Given the description of an element on the screen output the (x, y) to click on. 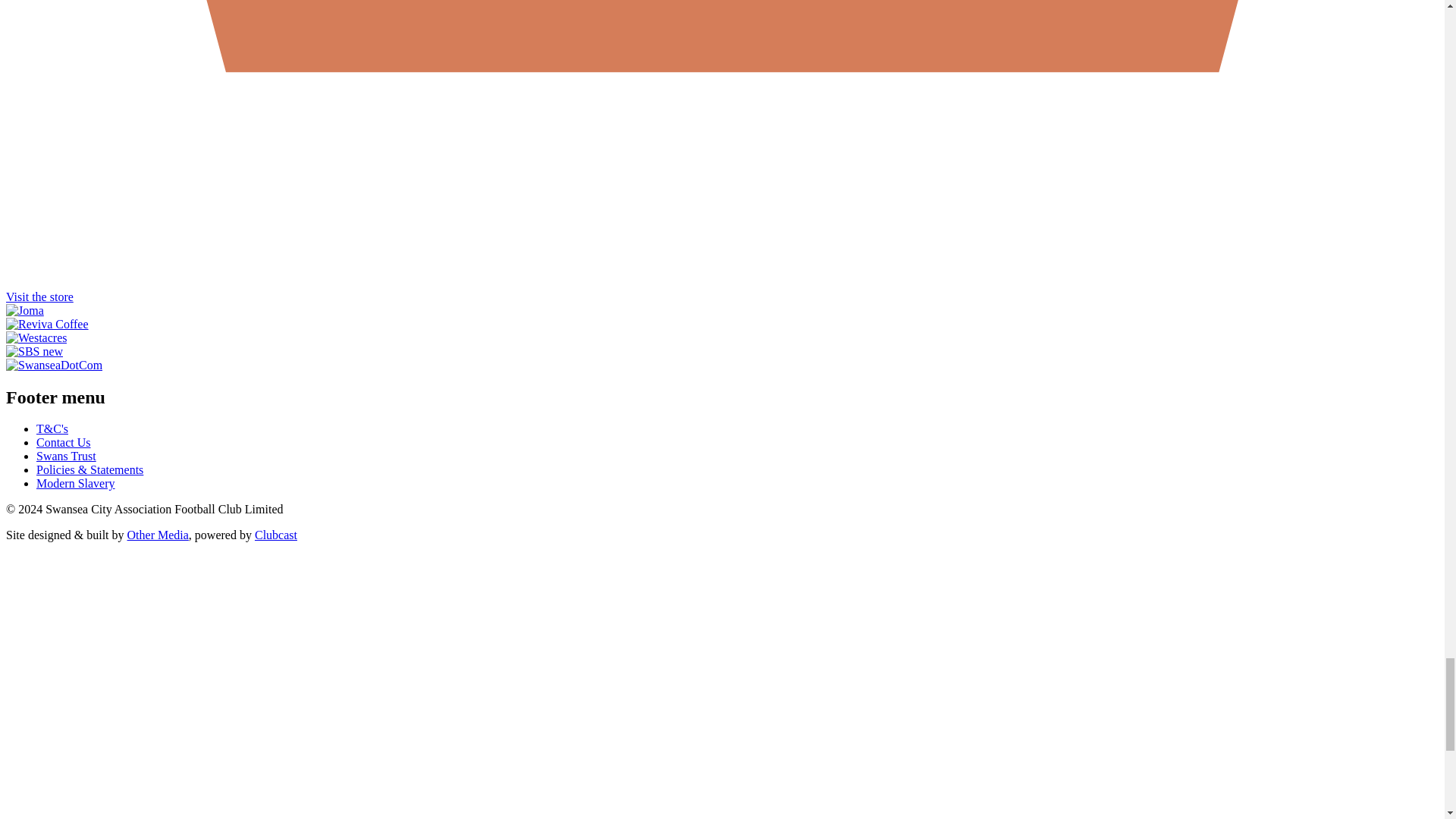
Swansea sponsor (24, 309)
Swansea sponsor (53, 364)
Swansea sponsor (35, 337)
Swansea sponsor (46, 323)
